Given the description of an element on the screen output the (x, y) to click on. 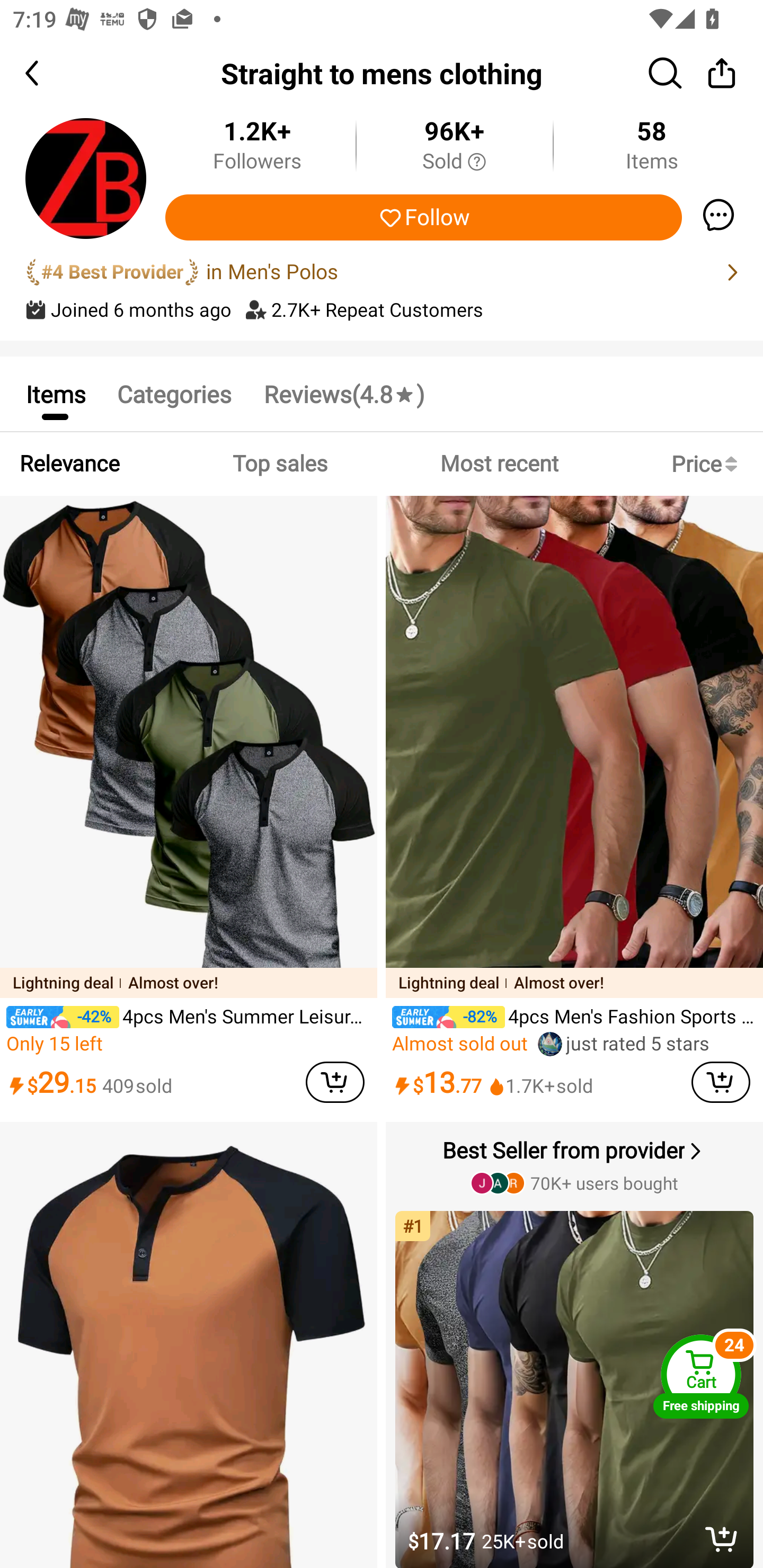
back (47, 72)
Straight to mens clothing (381, 72)
share (721, 72)
Sold (453, 161)
#4 Best Provider in Men's Polos (381, 272)
Items (55, 393)
Categories (174, 393)
Reviews(4.8 ) (343, 393)
Relevance (69, 463)
Top sales (279, 463)
Most recent (498, 463)
Price (707, 463)
Best Seller from provider 70K+ users bought (576, 1164)
#1 $17.17 25K+￼sold delete (576, 1381)
Cart Free shipping Cart (701, 1375)
delete (721, 1538)
